Given the description of an element on the screen output the (x, y) to click on. 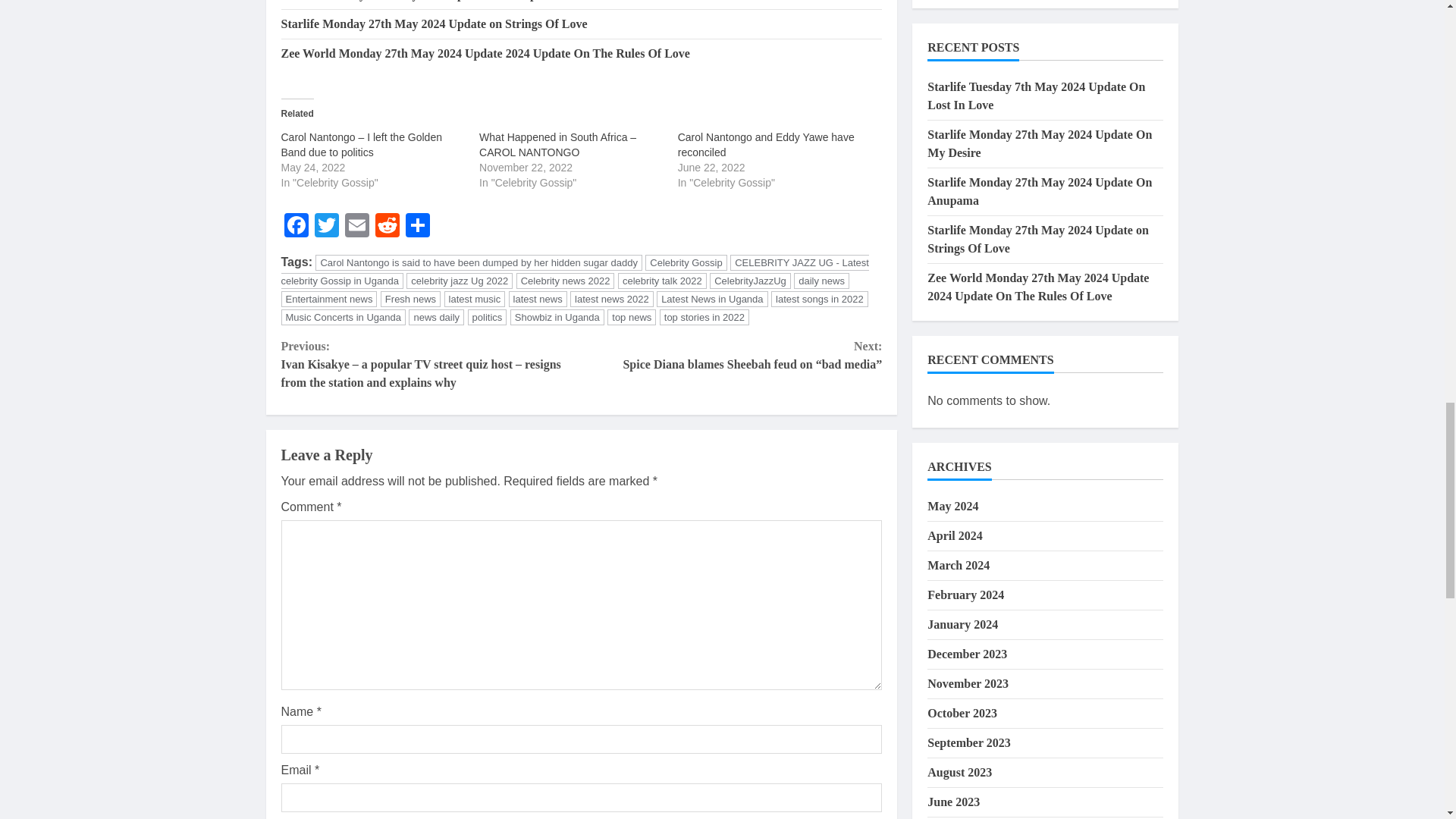
Starlife Monday 27th May 2024 Update on Strings Of Love (433, 23)
Reddit (386, 226)
celebrity jazz Ug 2022 (459, 280)
Celebrity Gossip (685, 262)
Carol Nantongo and Eddy Yawe have reconciled (766, 144)
Email (355, 226)
Twitter (325, 226)
CELEBRITY JAZZ UG - Latest celebrity Gossip in Uganda (574, 271)
Facebook (296, 226)
Facebook (296, 226)
Twitter (325, 226)
Carol Nantongo and Eddy Yawe have reconciled (766, 144)
celebrity talk 2022 (661, 280)
